Given the description of an element on the screen output the (x, y) to click on. 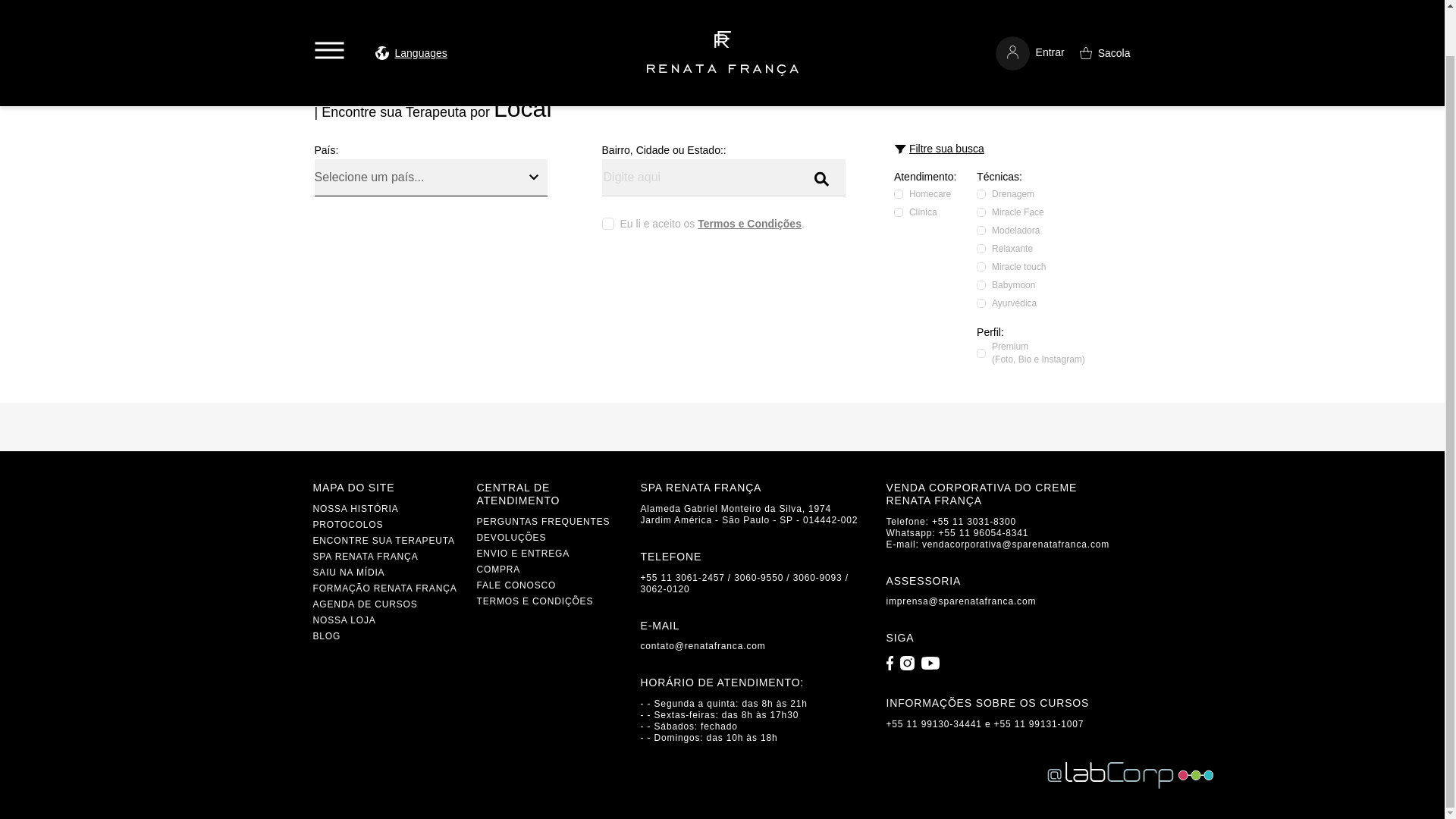
86c767cb-b504-43ad-84e1-74506503a92d (980, 212)
Entrar (1029, 11)
ENCONTRE SUA TERAPEUTA (383, 540)
1ca88959-5362-4a30-8532-aaecb8f044af (980, 194)
2429022b-ddfa-4894-97e4-8d8be262574d (980, 302)
64765c95-3ce3-4486-9e04-bc25b6d4e3cb (980, 266)
3d965c46-68ce-43fb-97aa-4da39fdd77df (980, 284)
accepted (608, 223)
PROTOCOLOS (347, 524)
41764e3c-d234-4098-a0af-adba0709bbc8 (980, 248)
